Given the description of an element on the screen output the (x, y) to click on. 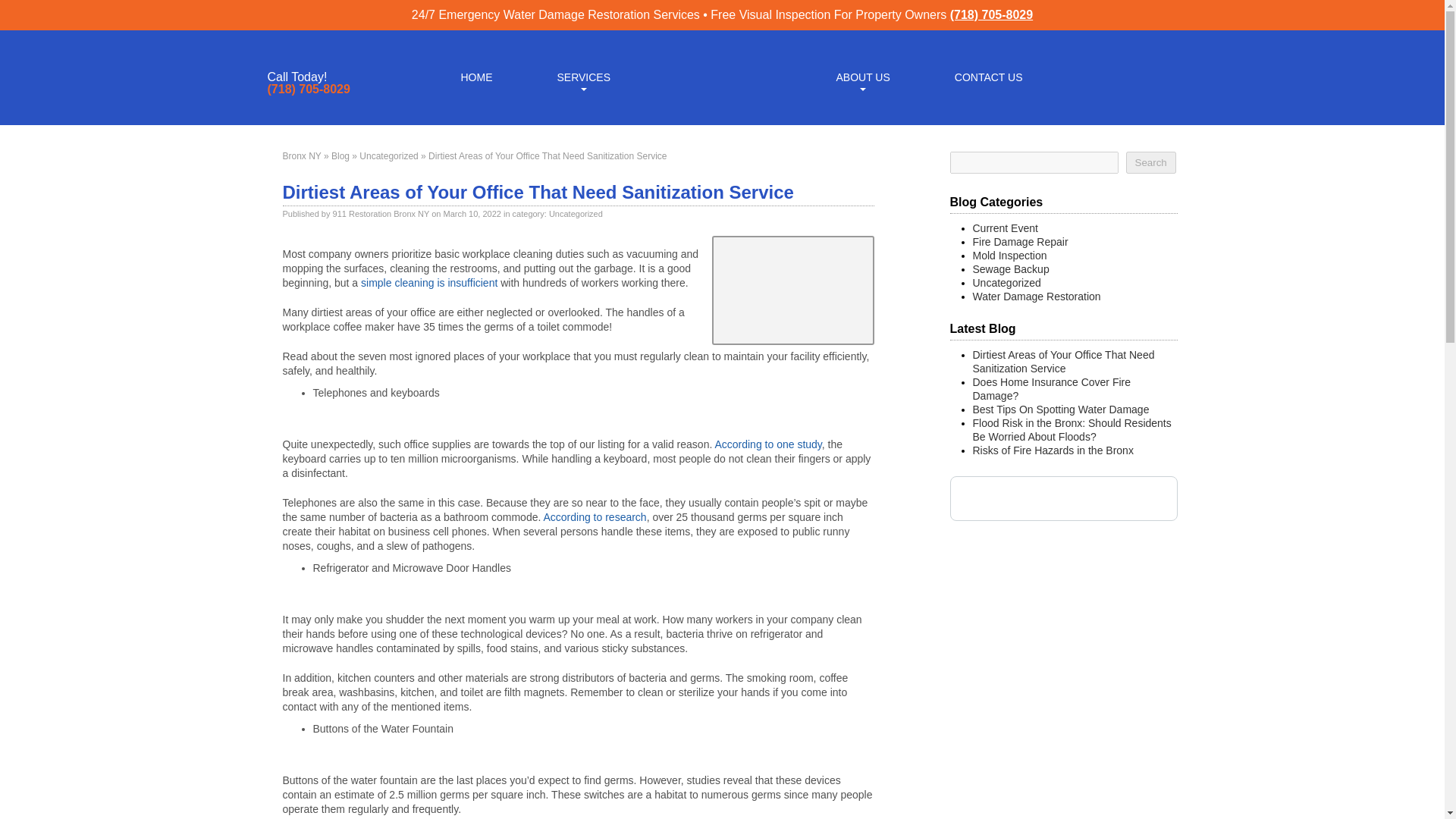
Go to the Uncategorized category archives. (388, 155)
SERVICES (582, 76)
Search (1149, 162)
Go to Bronx NY. (301, 155)
Go to Blog. (340, 155)
ABOUT US (862, 76)
HOME (476, 76)
911 Water Damage Restoration Logo (721, 115)
CONTACT US (988, 76)
